Given the description of an element on the screen output the (x, y) to click on. 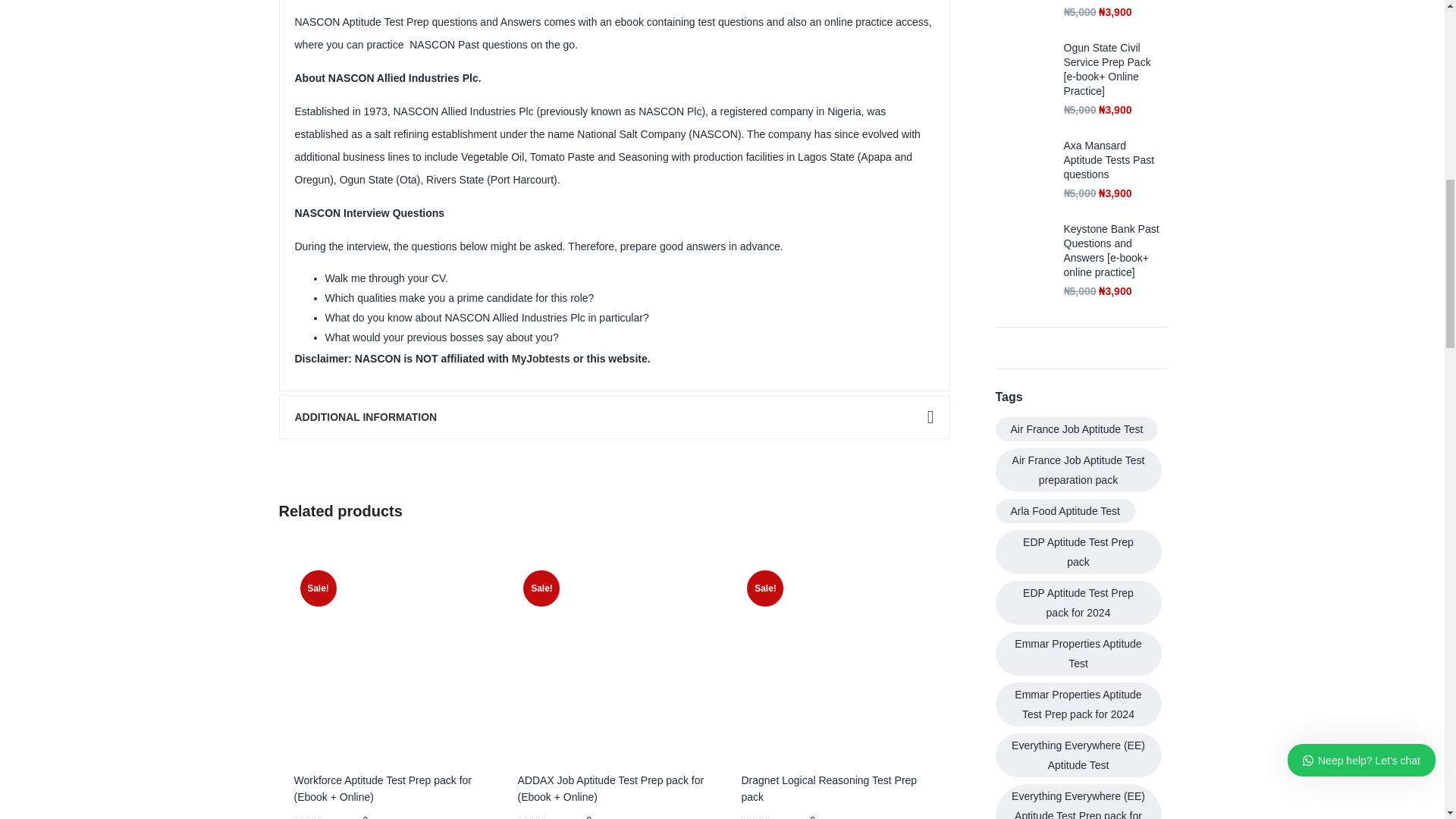
Dragnet Logical Reasoning Test Prep pack (837, 659)
